Given the description of an element on the screen output the (x, y) to click on. 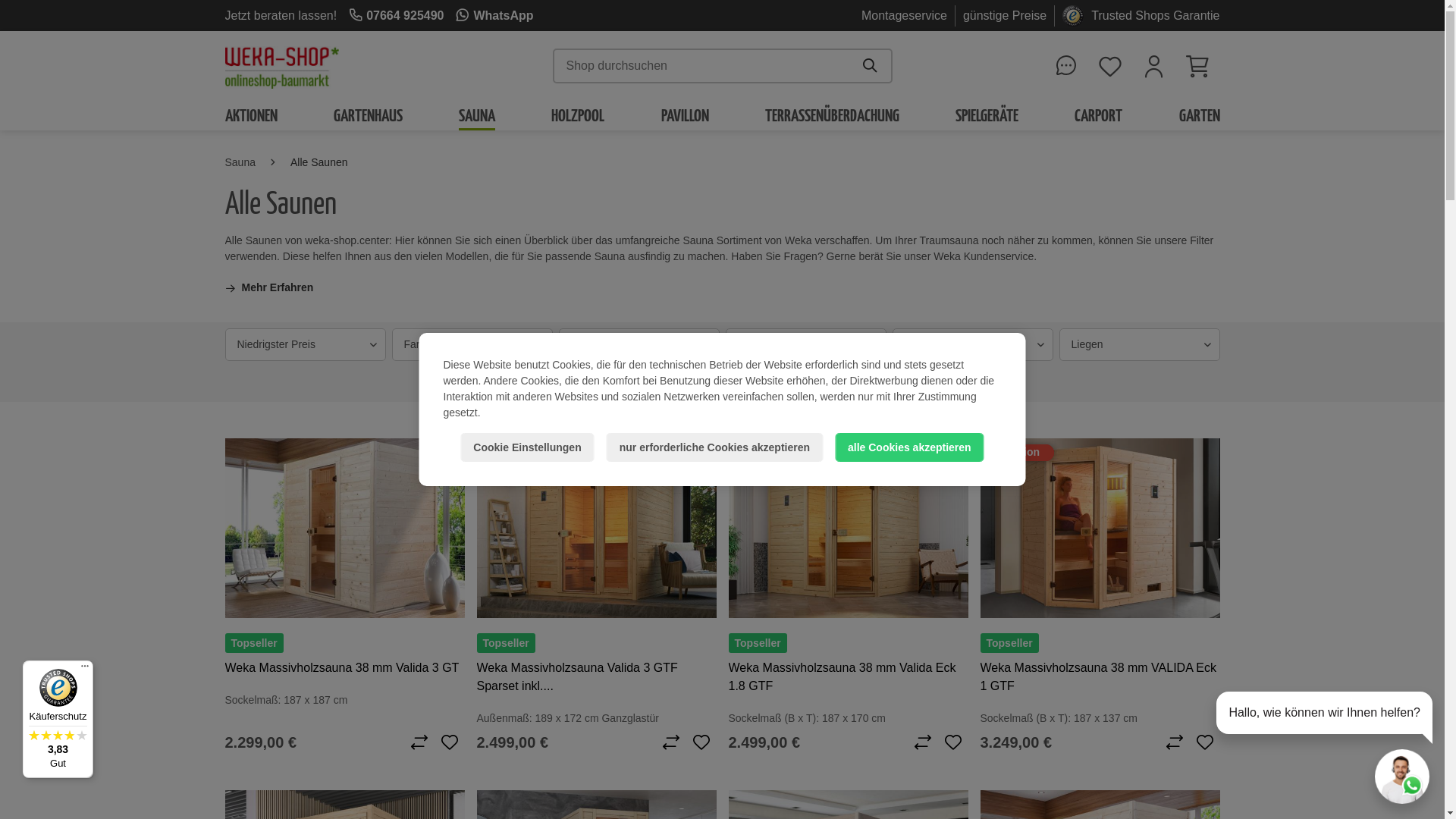
Auf den Merkzettel Element type: hover (448, 742)
Weka Massivholzsauna Valida 3 GTF Sparset inkl.... Element type: text (595, 676)
Weka Shop - zur Startseite wechseln Element type: hover (281, 65)
07664 925490 Element type: text (395, 14)
Mein Konto Element type: hover (1153, 65)
Alle Saunen Element type: text (319, 162)
HOLZPOOL Element type: text (577, 114)
Auf den Merkzettel Element type: hover (700, 742)
GARTEN Element type: text (1198, 114)
alle Cookies akzeptieren Element type: text (909, 447)
nur erforderliche Cookies akzeptieren Element type: text (714, 447)
Vergleichen Element type: hover (418, 742)
Vergleichen Element type: hover (1173, 742)
Auf den Merkzettel Element type: hover (952, 742)
Aktion Element type: text (595, 528)
CARPORT Element type: text (1098, 114)
PAVILLON Element type: text (685, 114)
Mehr Erfahren Element type: text (268, 287)
Weka Massivholzsauna 38 mm VALIDA Eck 1 GTF Element type: text (1099, 676)
AKTIONEN Element type: text (250, 114)
Auf den Merkzettel Element type: hover (1204, 742)
Warenkorb Element type: hover (1197, 65)
Weka Massivholzsauna 38 mm Valida Eck 1.8 GTF Element type: text (847, 676)
Produkte anzeigen Element type: text (782, 381)
Cookie Einstellungen Element type: text (526, 447)
Weka Massivholzsauna 38 mm Valida 3 GT Element type: hover (344, 528)
Vergleichen Element type: hover (921, 742)
Weka Massivholzsauna 38 mm Valida 3 GT Element type: text (344, 667)
Vergleichen Element type: hover (670, 742)
Weka Massivholzsauna 38 mm VALIDA Eck 1 GTF Element type: hover (1099, 528)
Weitere Filter Element type: text (644, 381)
Aktion Element type: text (1099, 528)
Trusted Shops Garantie Element type: text (1154, 14)
Merkzettel Element type: hover (1109, 65)
SAUNA Element type: text (476, 114)
Weka Massivholzsauna 38 mm Valida Eck 1.8 GTF Element type: hover (847, 528)
Montageservice Element type: text (903, 14)
GARTENHAUS Element type: text (367, 114)
Sauna Element type: text (239, 162)
WhatsApp Element type: text (494, 14)
